Given the description of an element on the screen output the (x, y) to click on. 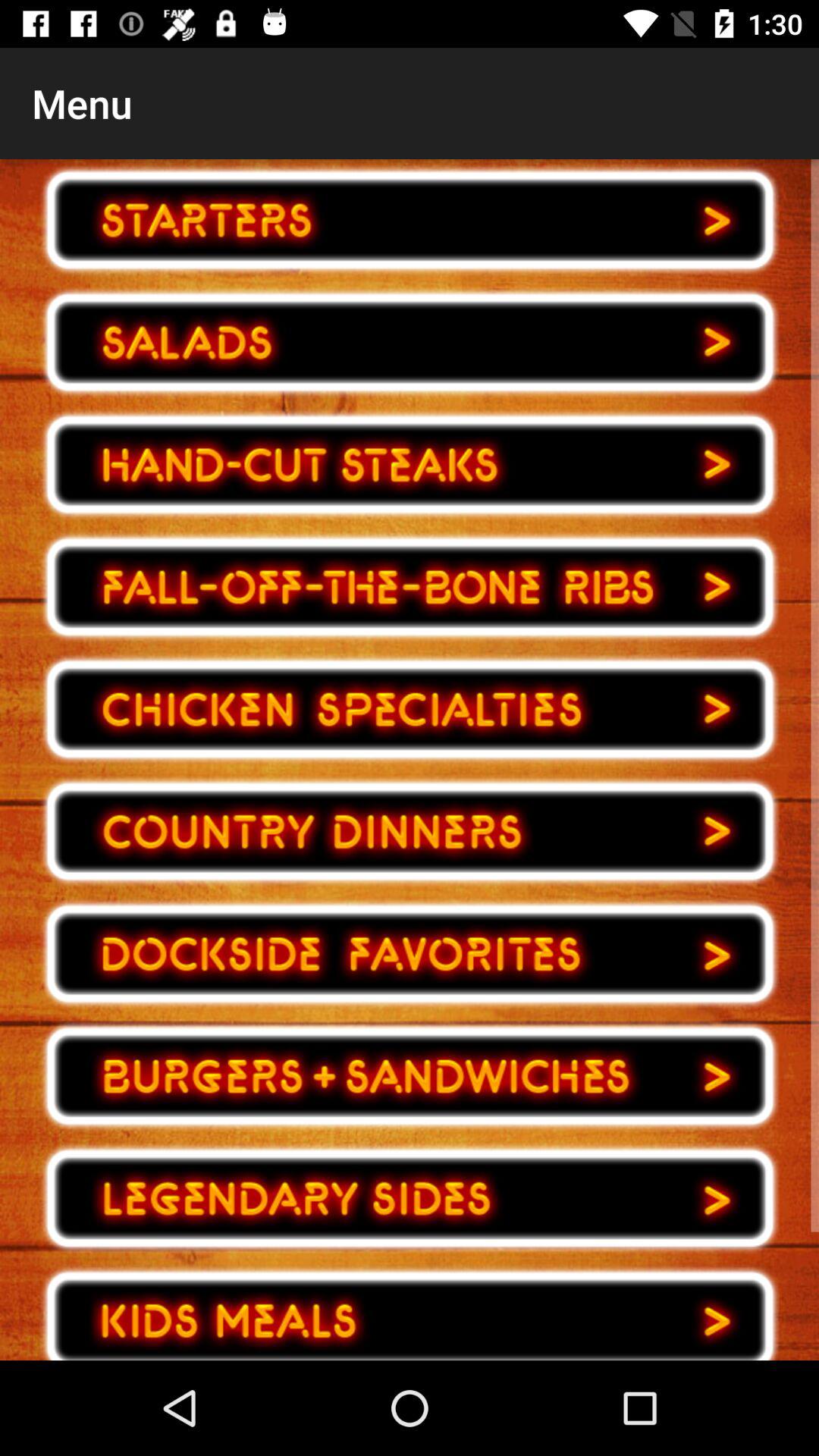
select option (409, 342)
